Given the description of an element on the screen output the (x, y) to click on. 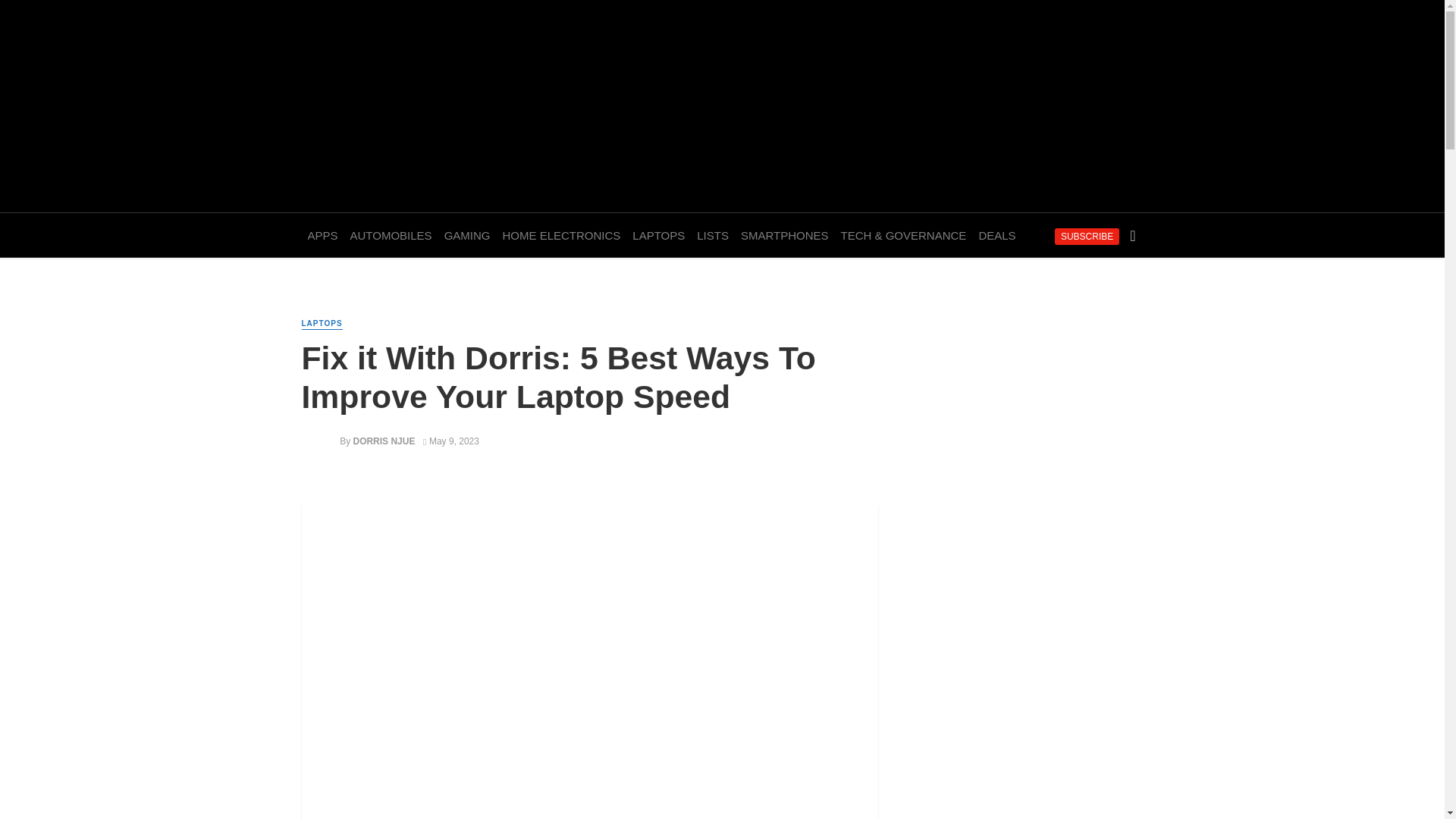
GAMING (467, 235)
AUTOMOBILES (390, 235)
Posts by Dorris Njue (383, 440)
LAPTOPS (658, 235)
DEALS (997, 235)
SUBSCRIBE (1086, 236)
HOME ELECTRONICS (561, 235)
LISTS (712, 235)
SMARTPHONES (784, 235)
DORRIS NJUE (383, 440)
